Given the description of an element on the screen output the (x, y) to click on. 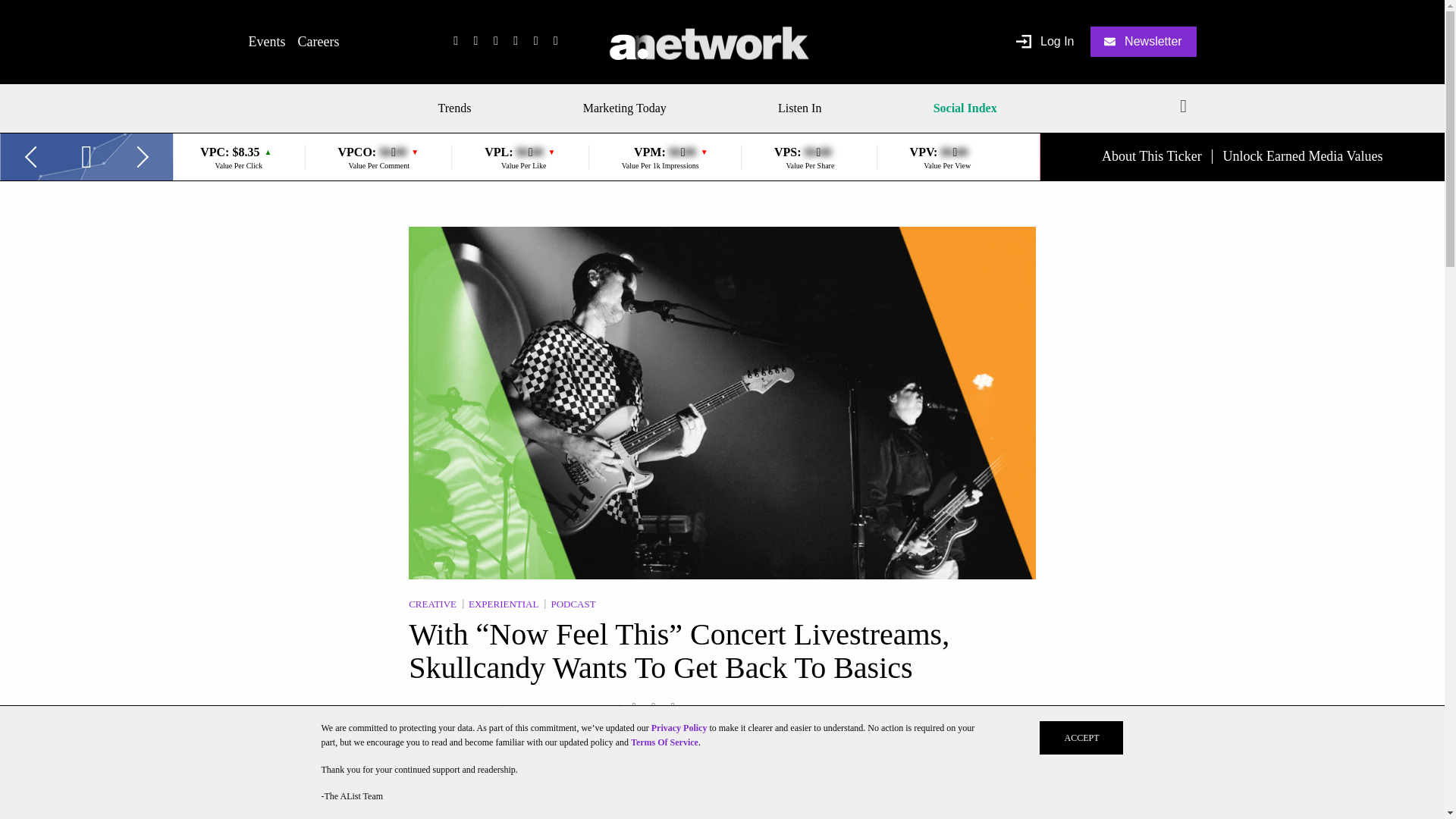
Careers (318, 41)
Marketing Today (625, 108)
Log In (1045, 42)
Listen In (799, 108)
Events (266, 41)
Social Index (965, 108)
Newsletter (1143, 41)
Trends (459, 108)
